Given the description of an element on the screen output the (x, y) to click on. 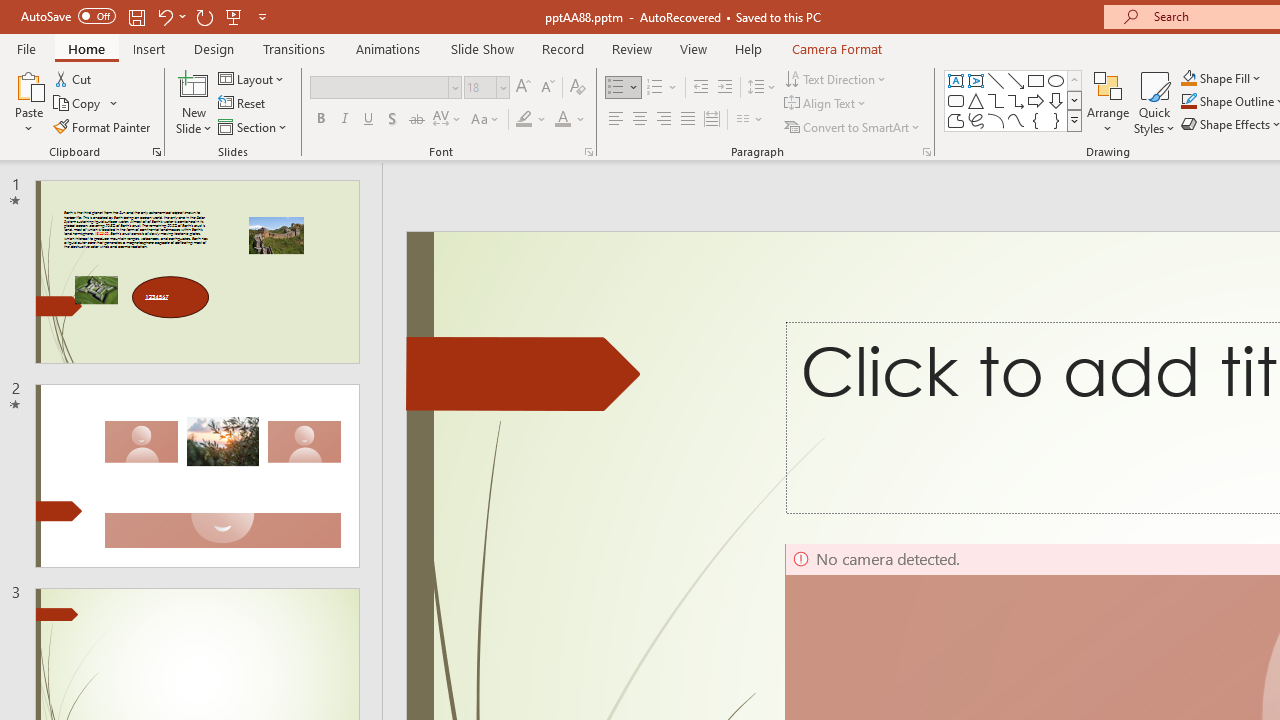
Format Painter (103, 126)
Decrease Indent (700, 87)
Freeform: Scribble (975, 120)
Undo (164, 15)
Text Direction (836, 78)
Change Case (486, 119)
Bullets (616, 87)
System (10, 11)
Row Down (1074, 100)
Font (385, 87)
Open (502, 87)
Shape Fill (1221, 78)
System (10, 11)
File Tab (26, 48)
Arrow: Right (1035, 100)
